Given the description of an element on the screen output the (x, y) to click on. 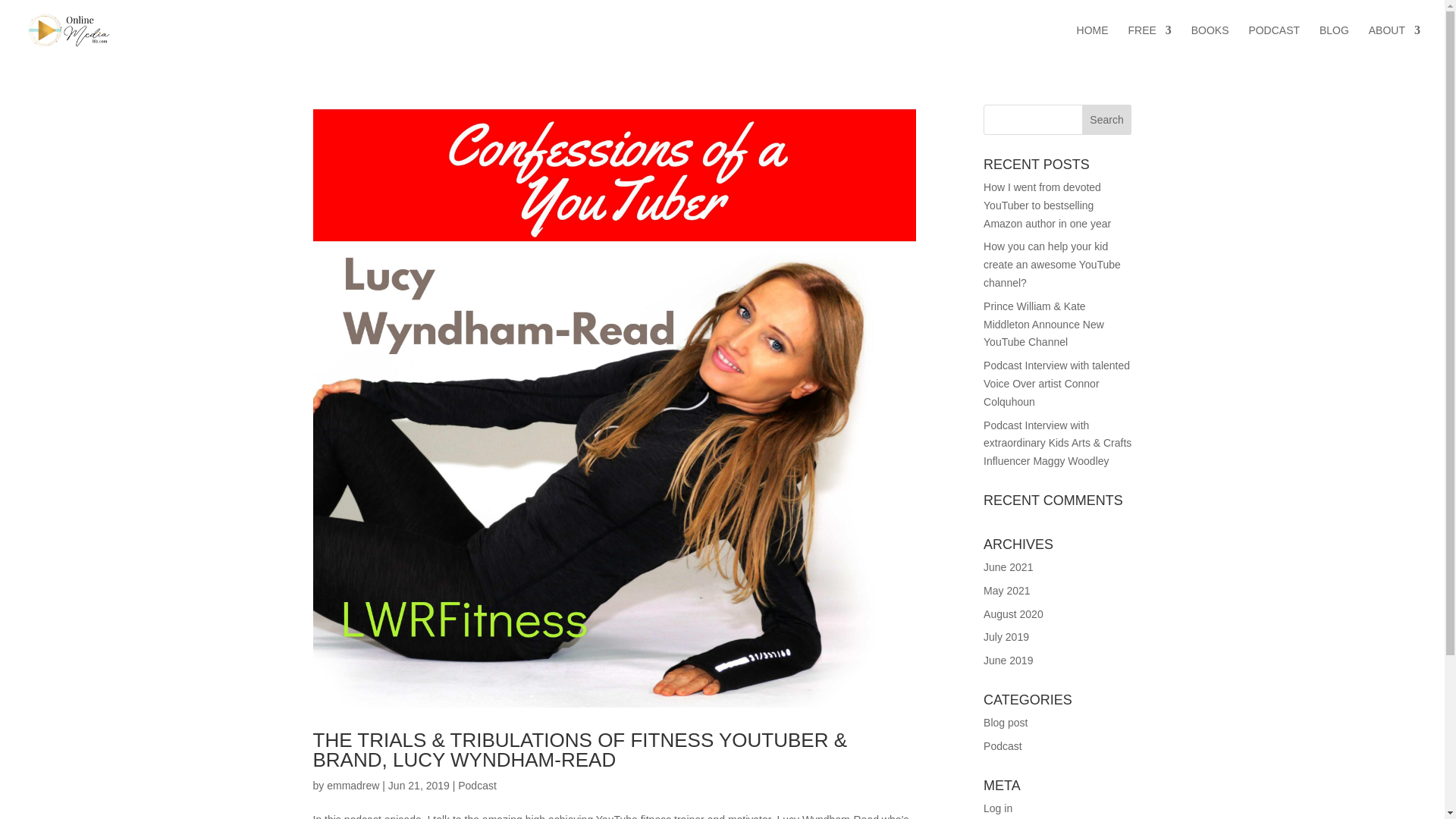
May 2021 (1006, 590)
July 2019 (1006, 636)
PODCAST (1273, 42)
BOOKS (1209, 42)
HOME (1092, 42)
June 2021 (1008, 567)
Search (1106, 119)
How you can help your kid create an awesome YouTube channel? (1052, 264)
Search (1106, 119)
Log in (997, 808)
FREE (1148, 42)
Podcast (477, 785)
Blog post (1005, 722)
June 2019 (1008, 660)
